Given the description of an element on the screen output the (x, y) to click on. 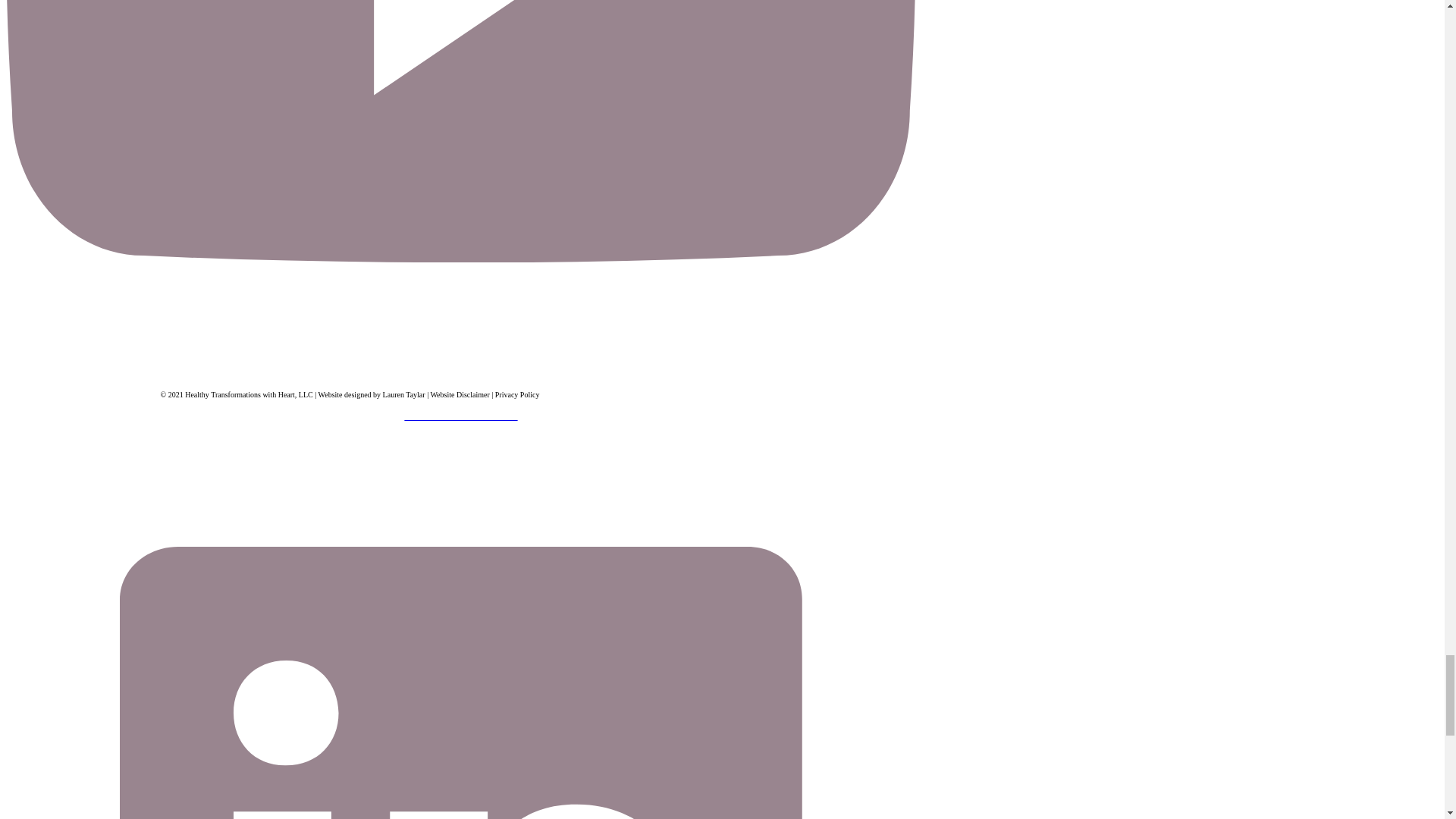
Website Disclaimer (459, 394)
Privacy Policy (517, 394)
BOOK YOUR CONSULTATION (460, 417)
Website designed by Lauren Taylar (371, 394)
